Given the description of an element on the screen output the (x, y) to click on. 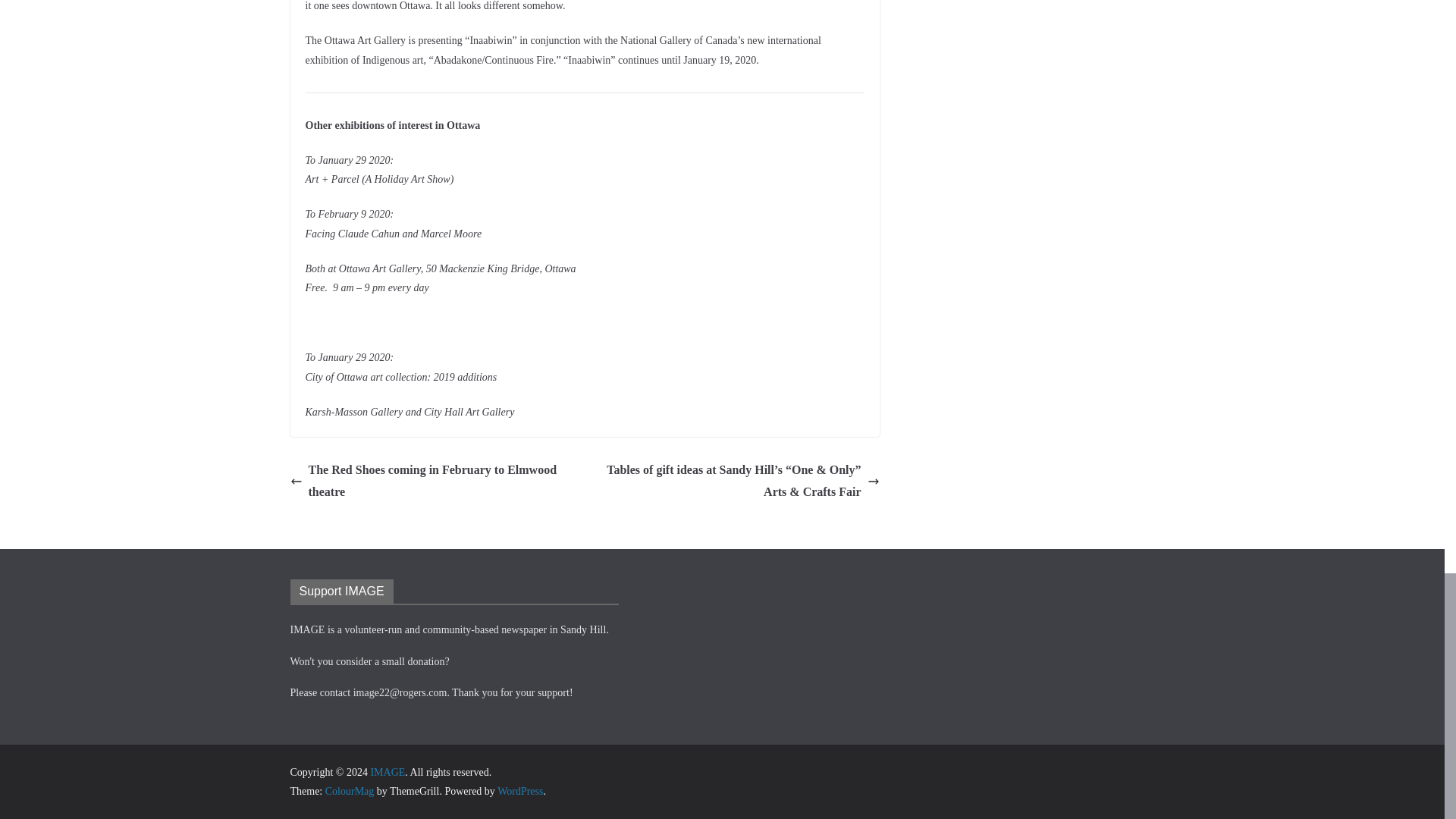
WordPress (520, 790)
The Red Shoes coming in February to Elmwood theatre (432, 481)
ColourMag (349, 790)
IMAGE (386, 772)
